Given the description of an element on the screen output the (x, y) to click on. 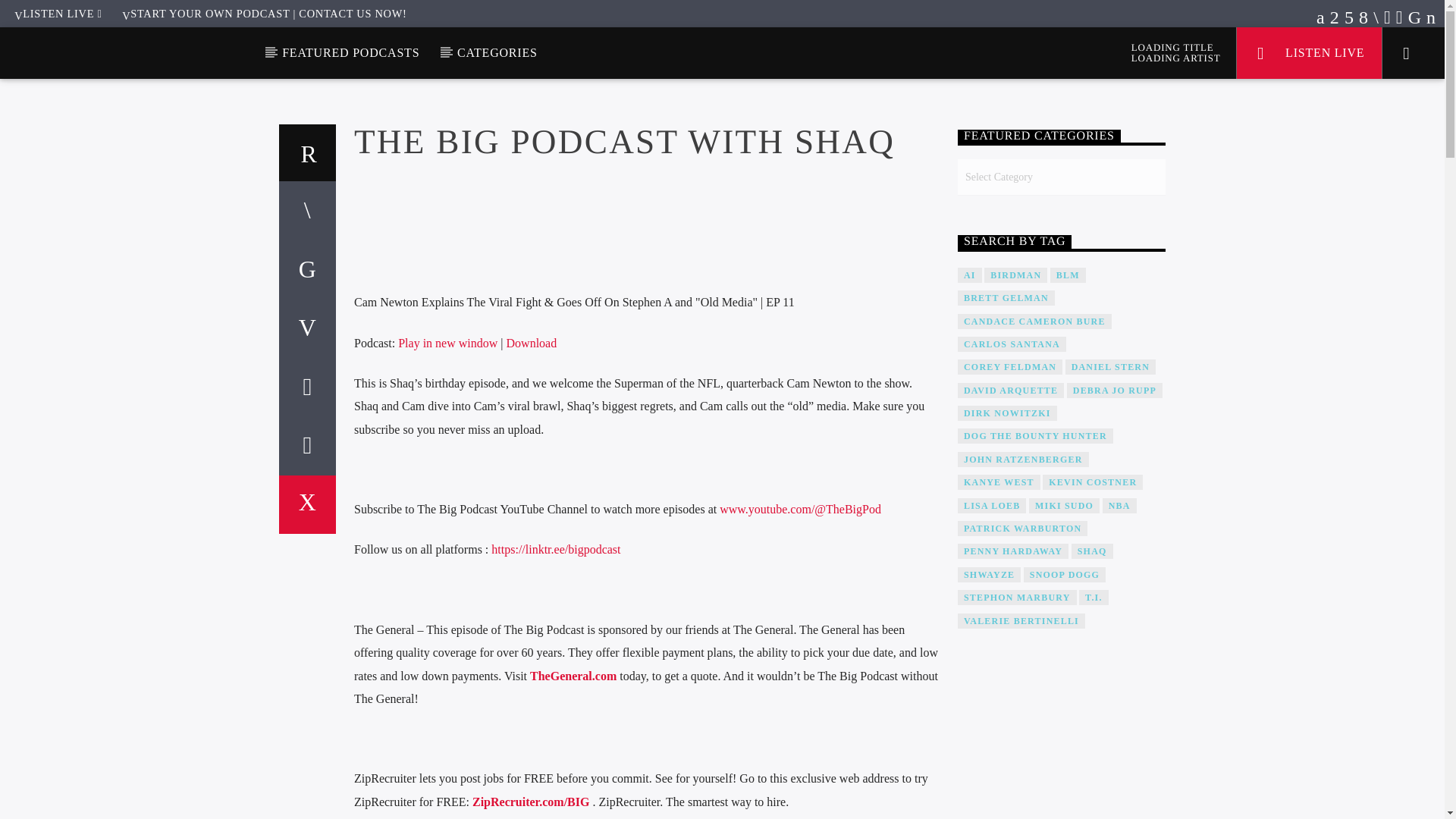
Download (531, 342)
Play (646, 322)
Play (362, 322)
Play in new window (447, 342)
CATEGORIES (497, 52)
FEATURED PODCASTS (350, 52)
